Given the description of an element on the screen output the (x, y) to click on. 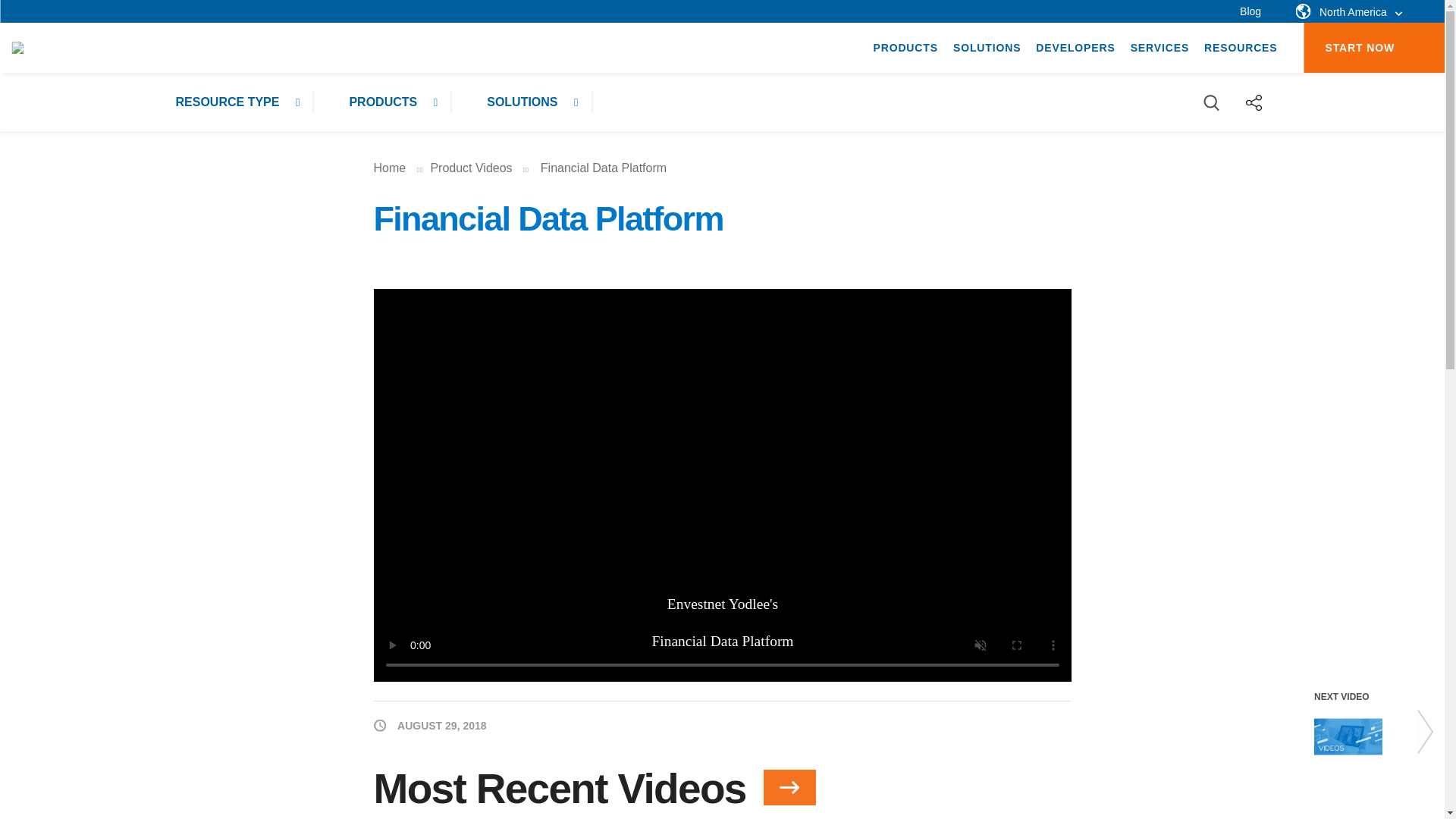
PRODUCTS (904, 47)
Share this Post (1254, 102)
Published Date (429, 723)
Open Search Box (1211, 101)
Blog (1250, 10)
North America (1348, 12)
Blog (1250, 10)
